Given the description of an element on the screen output the (x, y) to click on. 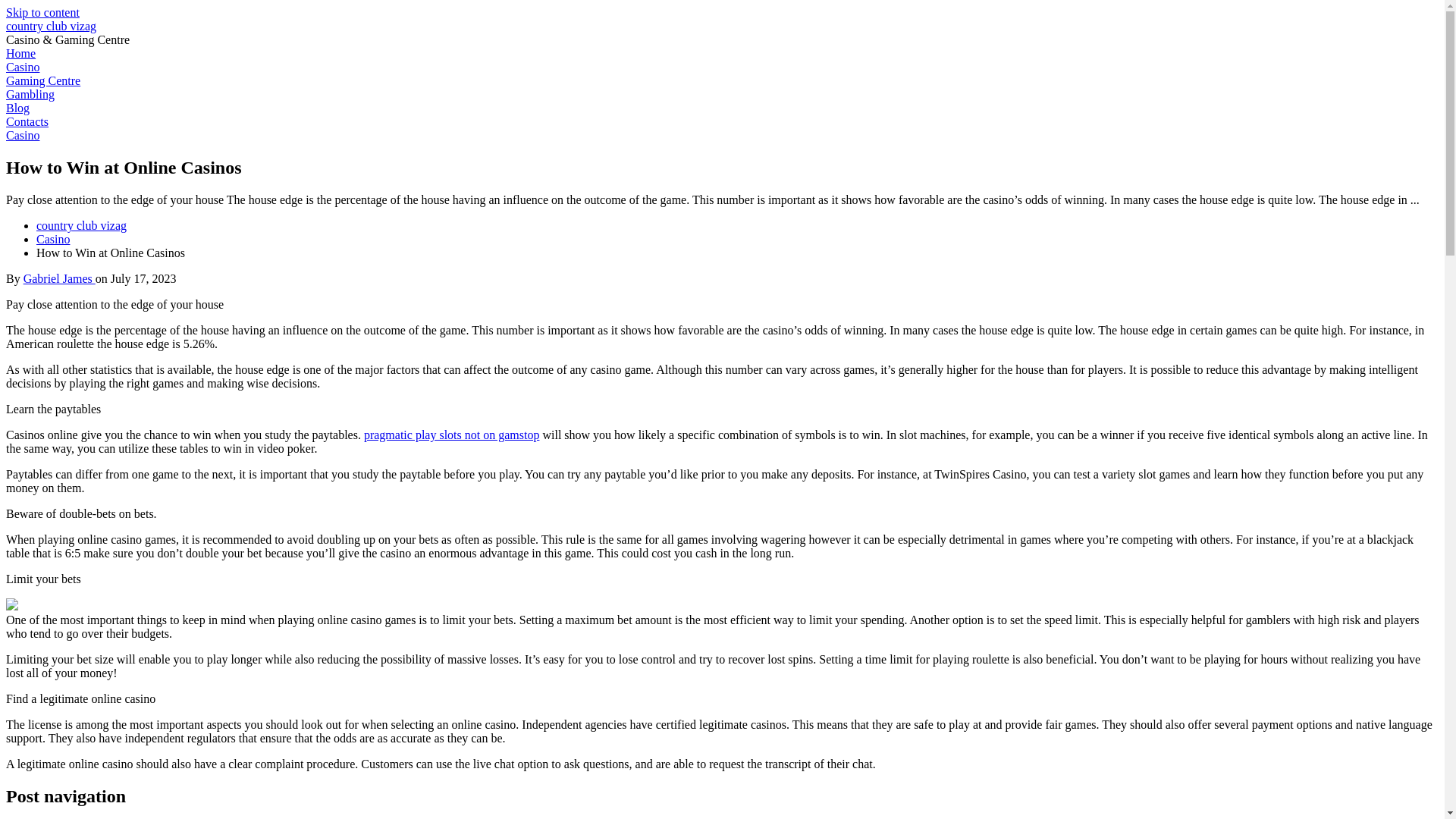
Casino (22, 134)
Casino (22, 66)
Gaming Centre (42, 80)
View all posts in Casino (22, 134)
country club vizag (50, 25)
Gabriel James (59, 278)
Casino (52, 238)
Gambling (30, 93)
Home (19, 52)
Blog (17, 107)
country club vizag (81, 225)
Skip to content (42, 11)
Gabriel James (59, 278)
How to Win at Online Casinos (110, 252)
Contacts (26, 121)
